Given the description of an element on the screen output the (x, y) to click on. 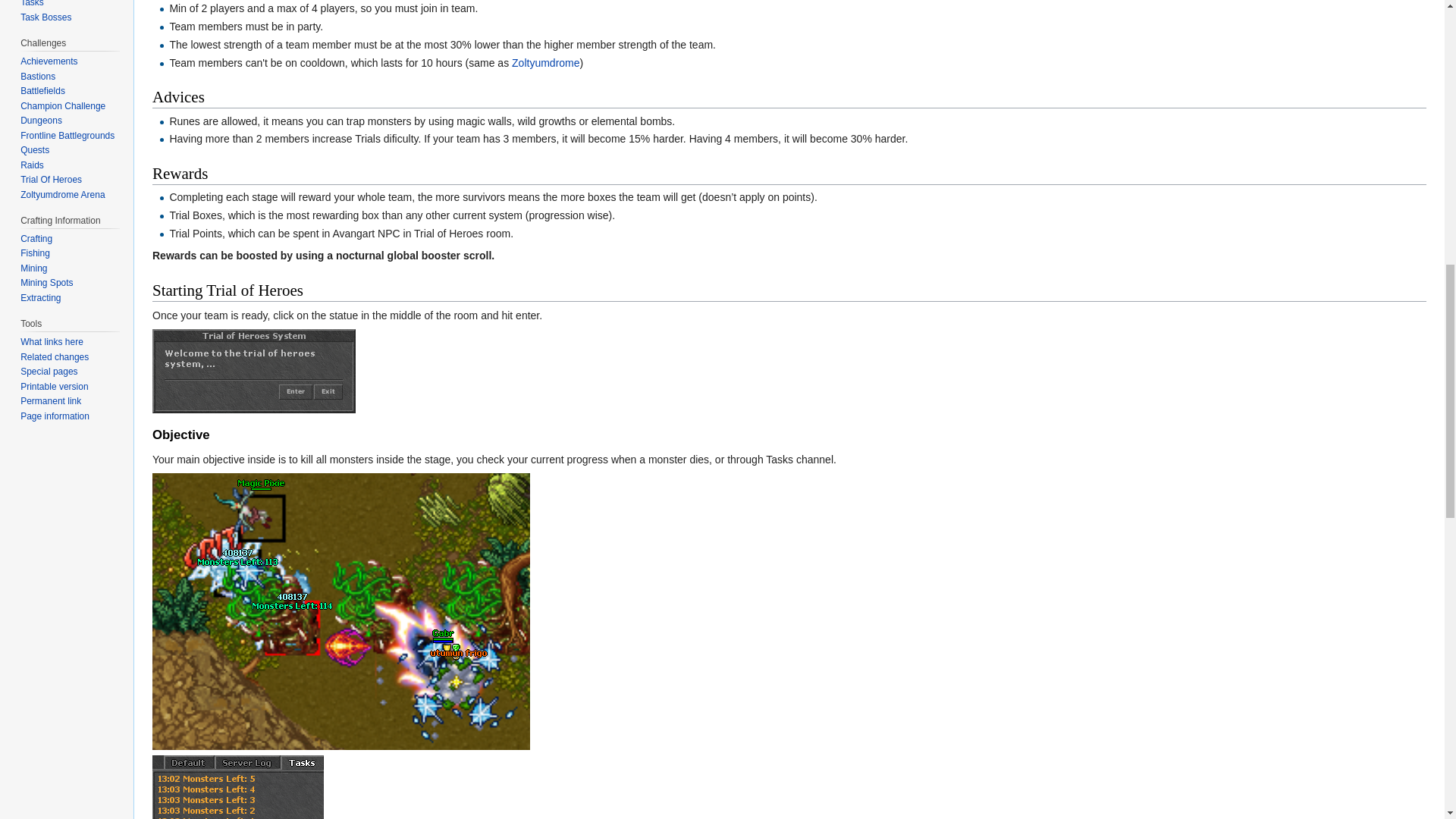
Permanent link to this revision of the page (50, 400)
Zoltyumdrome Arena (545, 62)
Zoltyumdrome (545, 62)
